Given the description of an element on the screen output the (x, y) to click on. 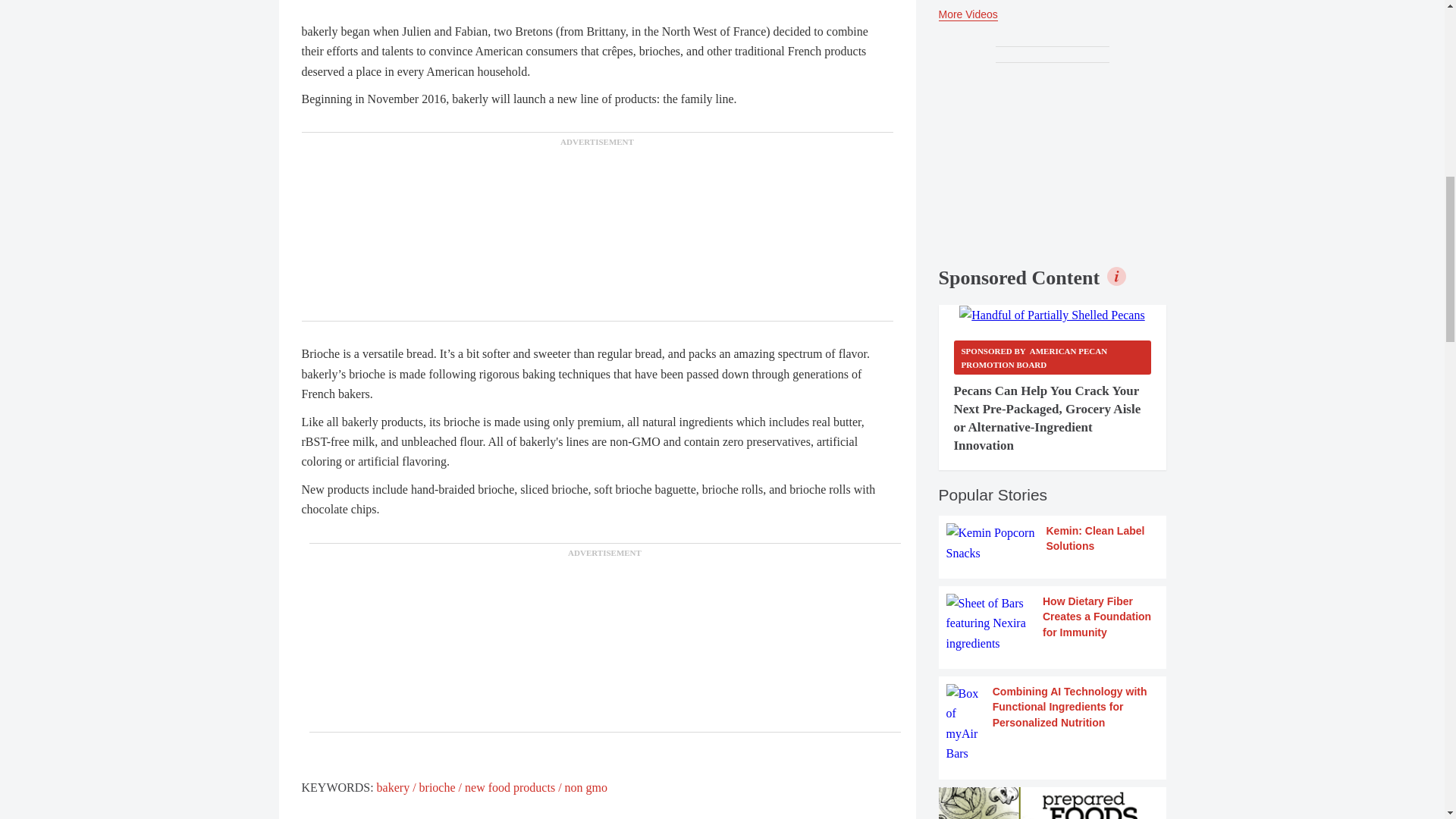
How Dietary Fiber Creates a Foundation for Immunity (1052, 623)
Sponsored by American Pecan Promotion Board (1052, 357)
Kemin: Clean Label Solutions (1052, 543)
Handful of Partially Shelled Pecans (1051, 315)
